Given the description of an element on the screen output the (x, y) to click on. 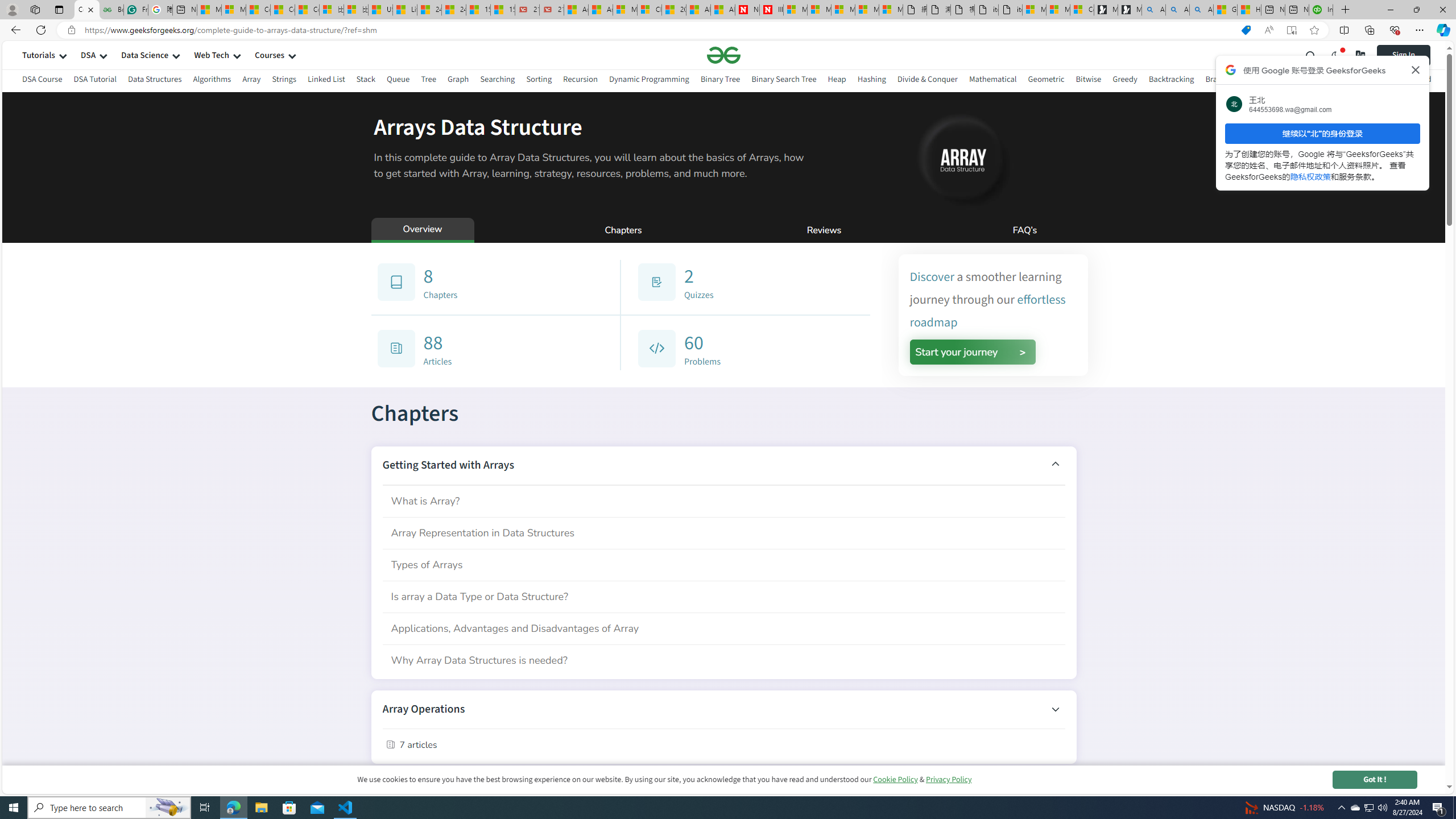
Web Tech (211, 55)
Bitwise (1089, 80)
Binary Tree (719, 80)
Pattern Searching (1344, 79)
Cloud Computing Services | Microsoft Azure (648, 9)
Tree (428, 79)
DSA Tutorial (94, 79)
Tutorials (38, 55)
DSA Course (42, 79)
